Given the description of an element on the screen output the (x, y) to click on. 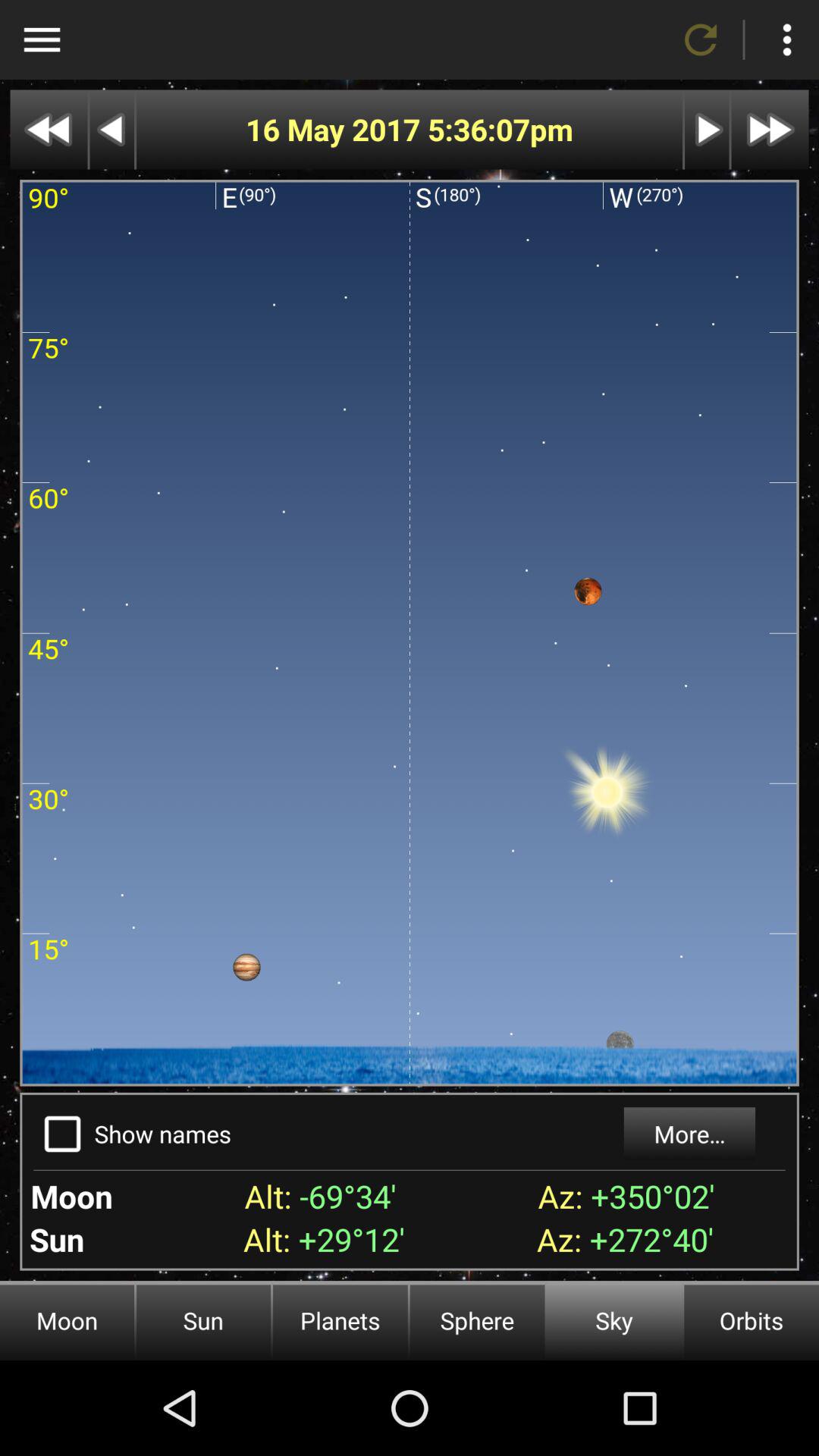
access menu (41, 39)
